Given the description of an element on the screen output the (x, y) to click on. 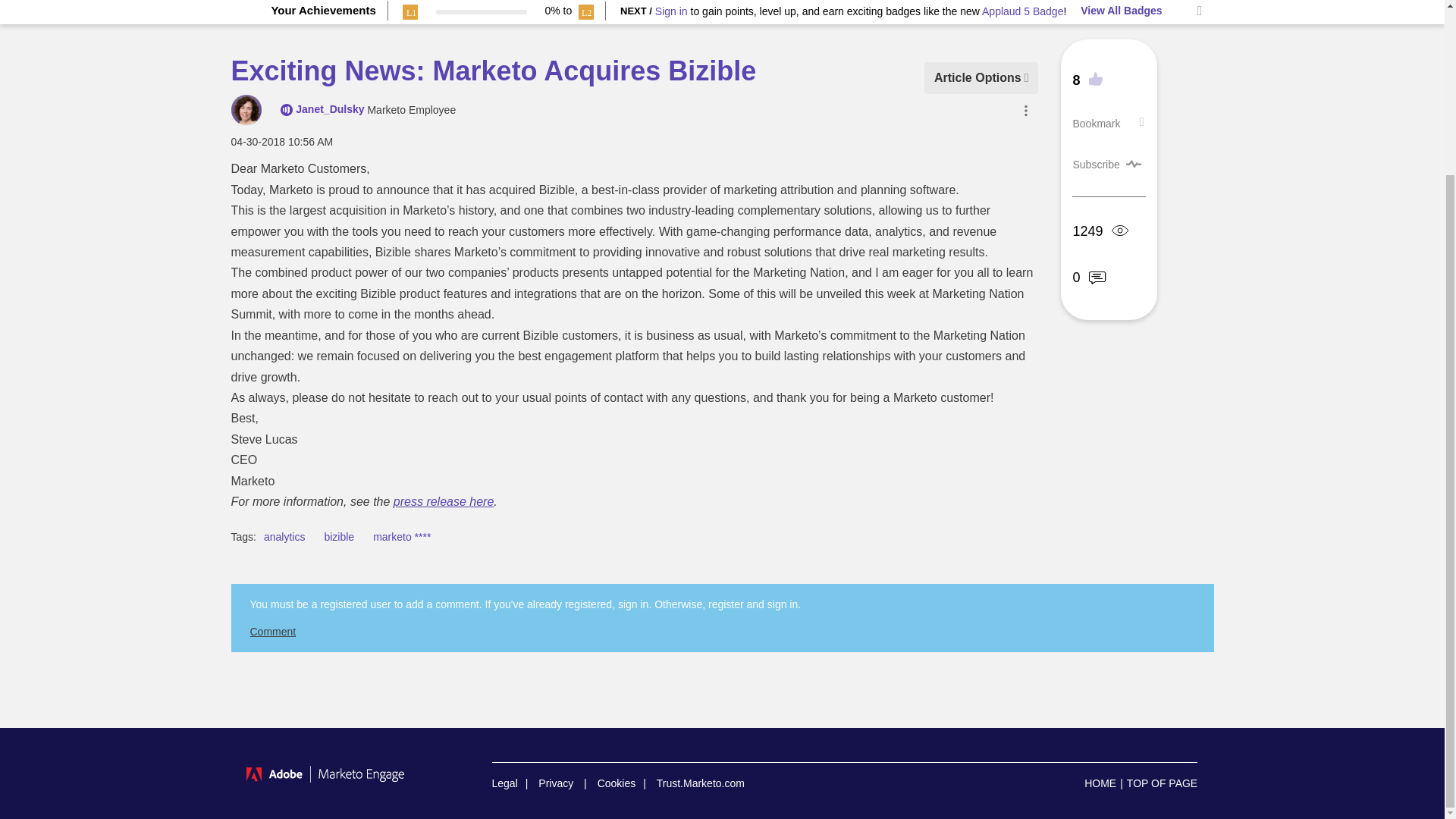
bizible (338, 536)
Subscribe (1095, 164)
press release here (444, 501)
Bookmark (1095, 123)
Click to Bookmark (1095, 123)
Posted on (281, 141)
View All Badges (1120, 10)
TOP (1161, 782)
Show option menu (981, 77)
You must sign-in to give likes to this post (1091, 80)
analytics (283, 536)
8 (1086, 79)
Sign in (671, 10)
TOP (1161, 782)
Marketo Employee (286, 110)
